Given the description of an element on the screen output the (x, y) to click on. 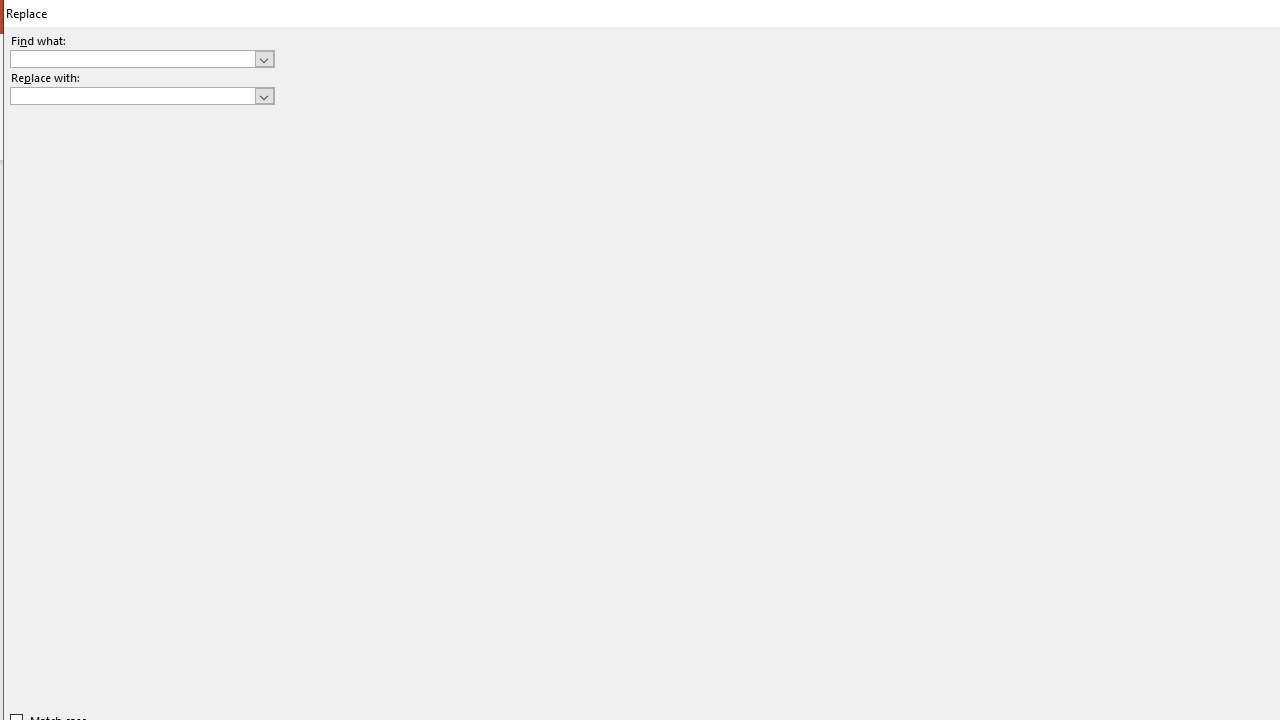
Replace with (142, 96)
Replace with (132, 95)
Find what (142, 58)
Find what (132, 58)
